Given the description of an element on the screen output the (x, y) to click on. 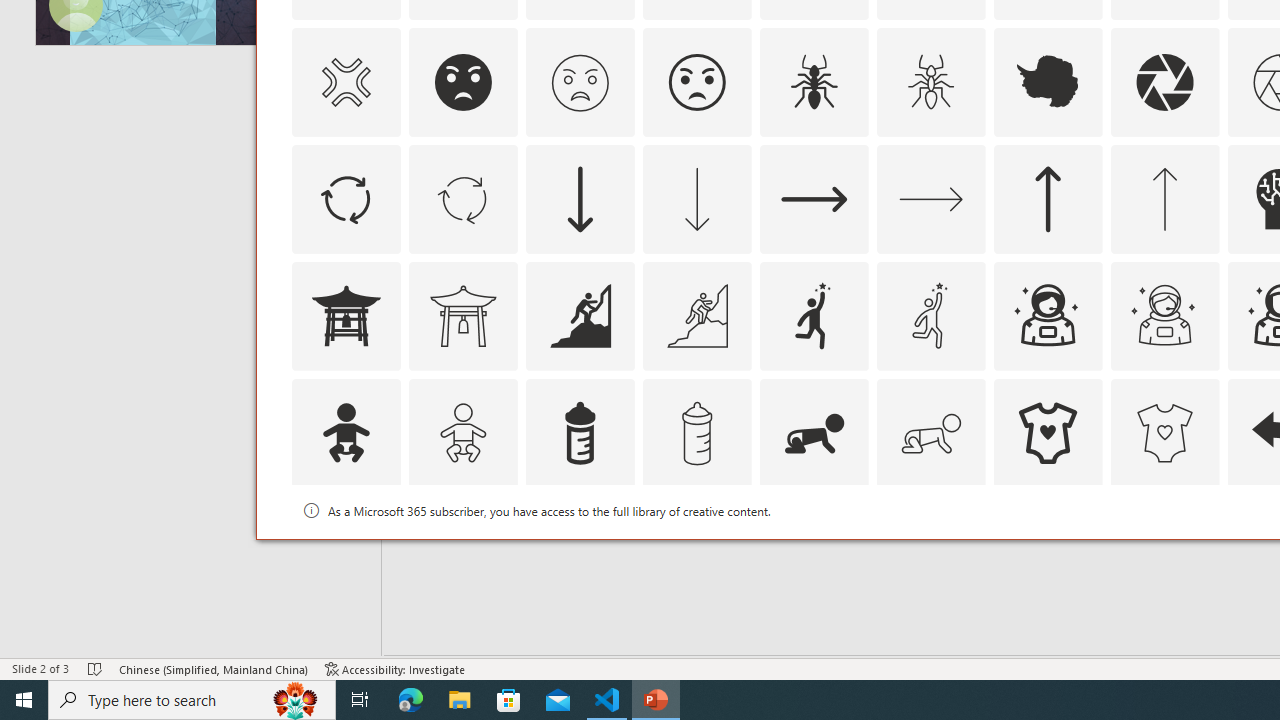
AutomationID: Icons_ArrowUp (1048, 198)
AutomationID: Icons_BabyCrawling_M (930, 432)
AutomationID: Icons_ArrowDown_M (696, 198)
AutomationID: Icons_ArrowDown (579, 198)
AutomationID: Icons_BabyBottle (579, 432)
AutomationID: Icons_AsianTemple1_M (463, 316)
AutomationID: Icons_AngryFace_Outline (696, 82)
